Given the description of an element on the screen output the (x, y) to click on. 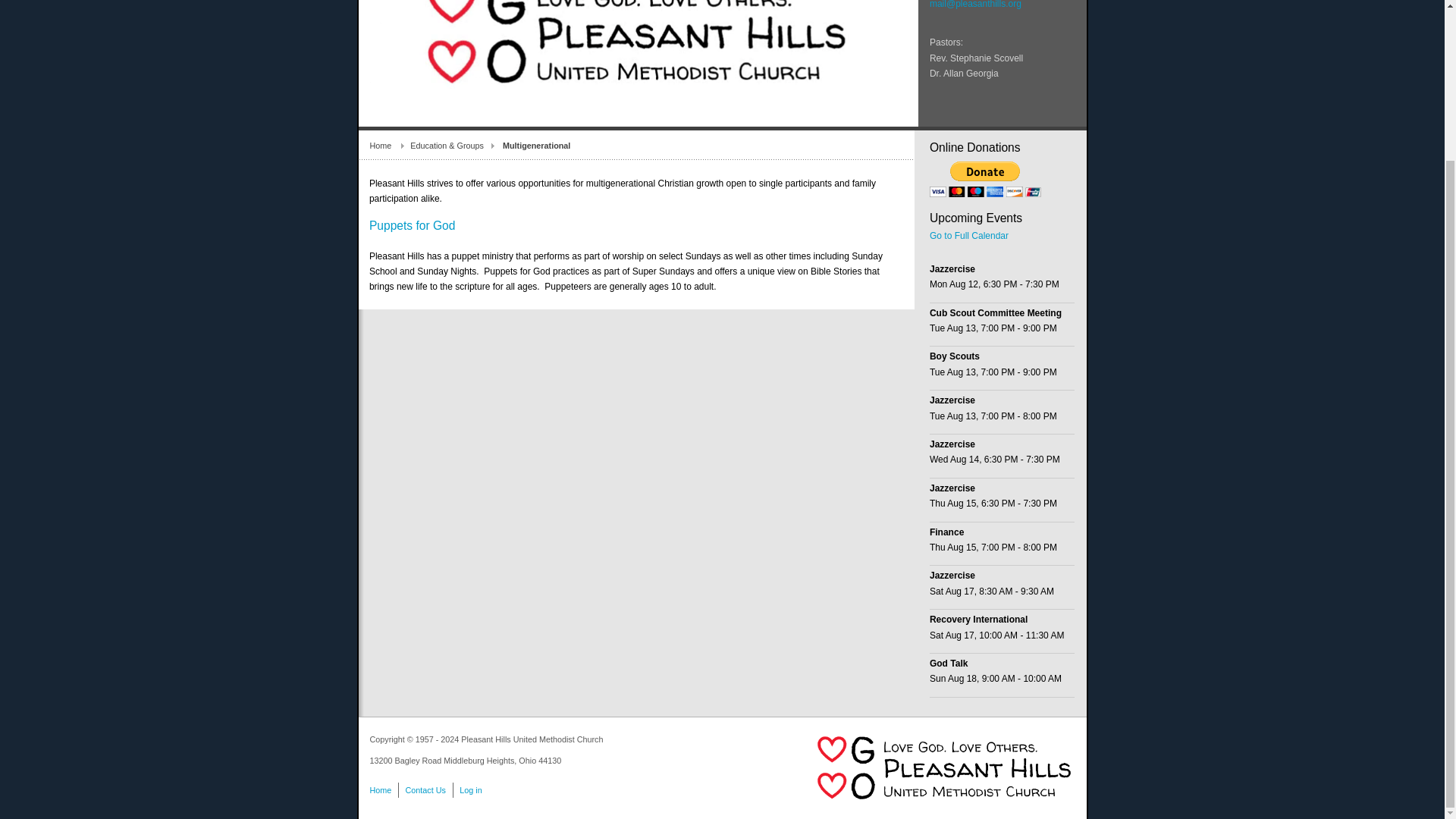
Home (389, 145)
Puppets for God (412, 225)
PayPal - The safer, easier way to pay online! (985, 179)
